Given the description of an element on the screen output the (x, y) to click on. 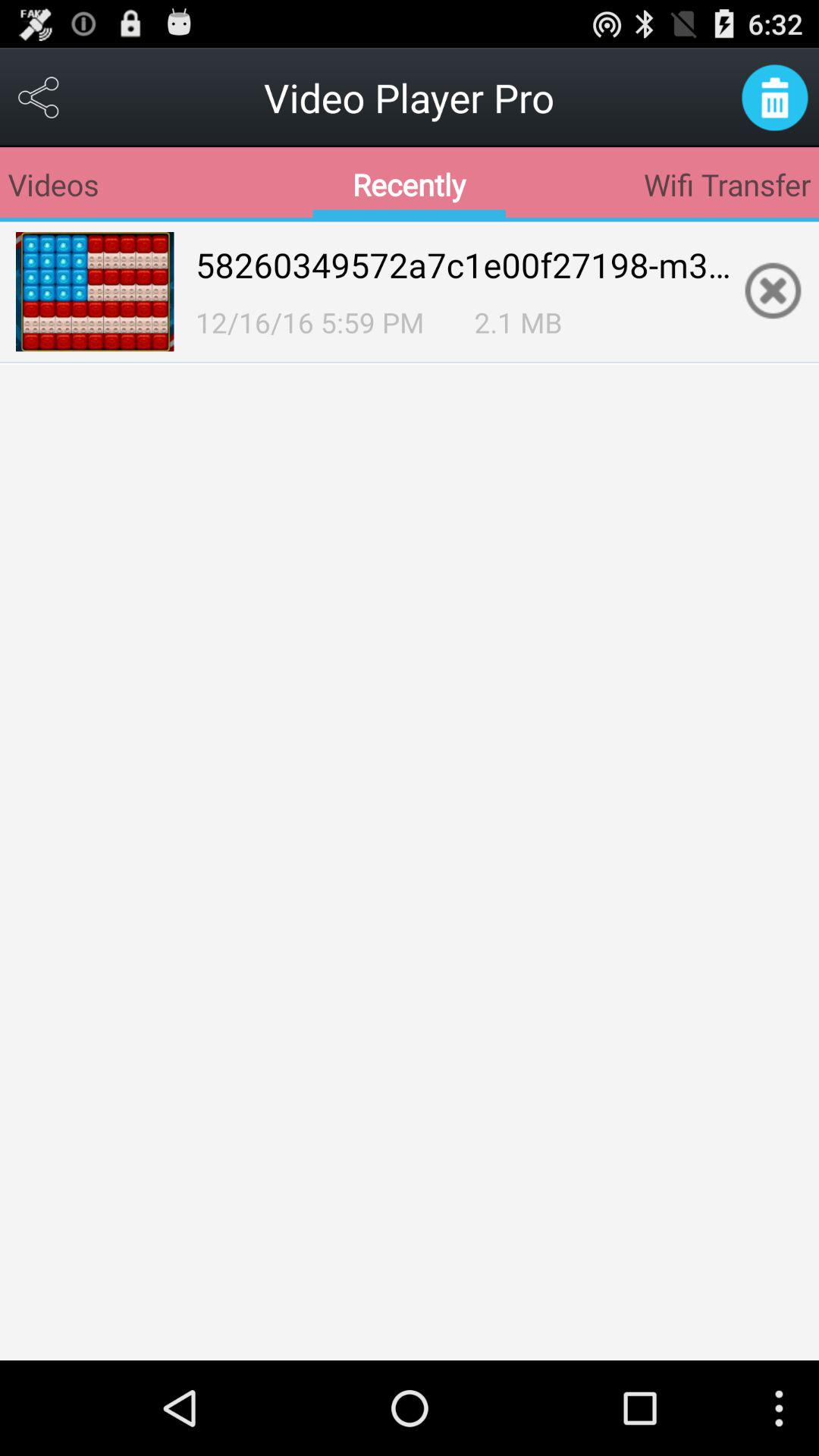
share video (39, 97)
